Given the description of an element on the screen output the (x, y) to click on. 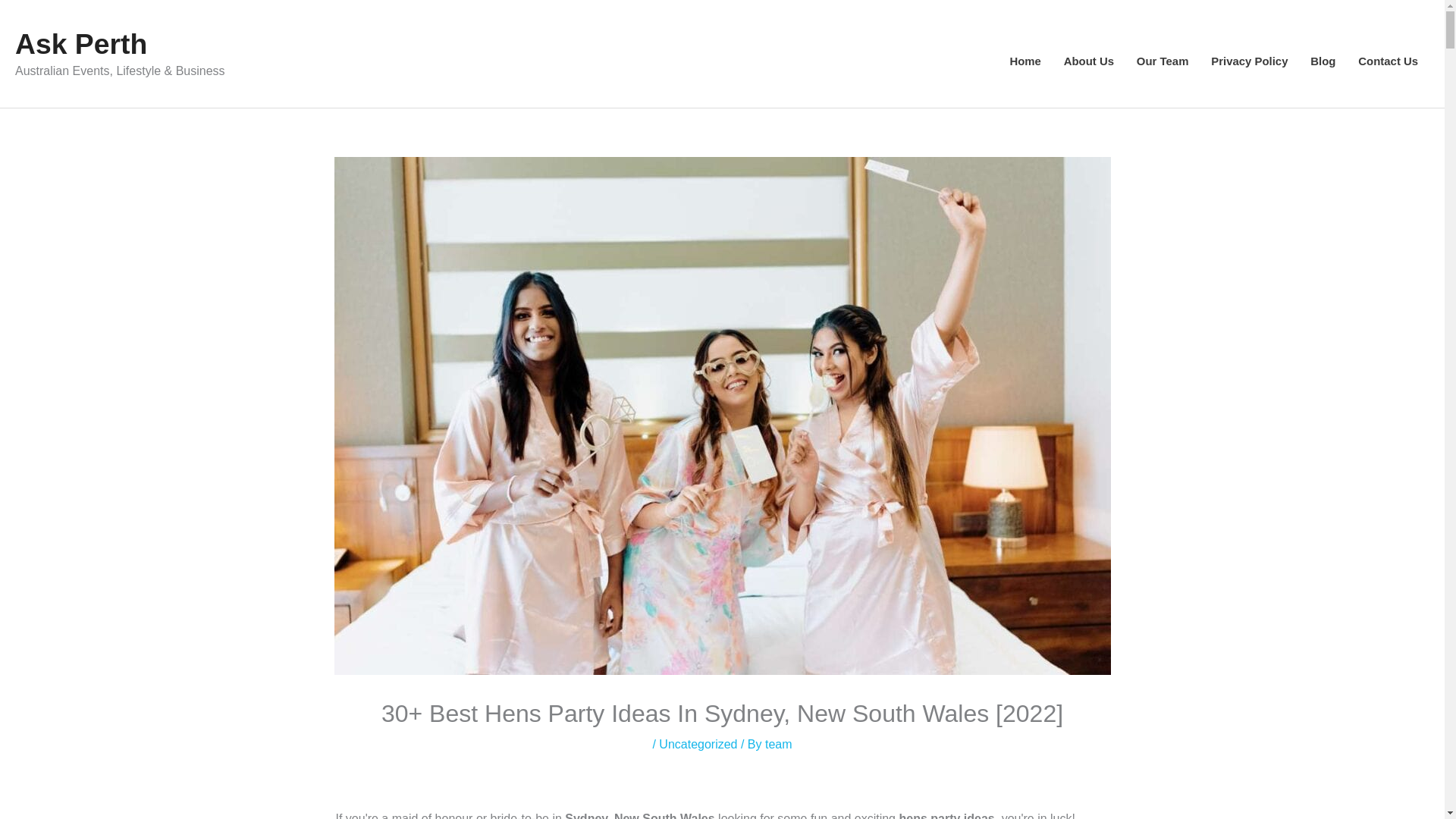
About Us (1088, 61)
Ask Perth (80, 43)
Home (1024, 61)
team (778, 744)
View all posts by team (778, 744)
Uncategorized (697, 744)
Our Team (1162, 61)
Blog (1322, 61)
Privacy Policy (1248, 61)
Contact Us (1387, 61)
